Given the description of an element on the screen output the (x, y) to click on. 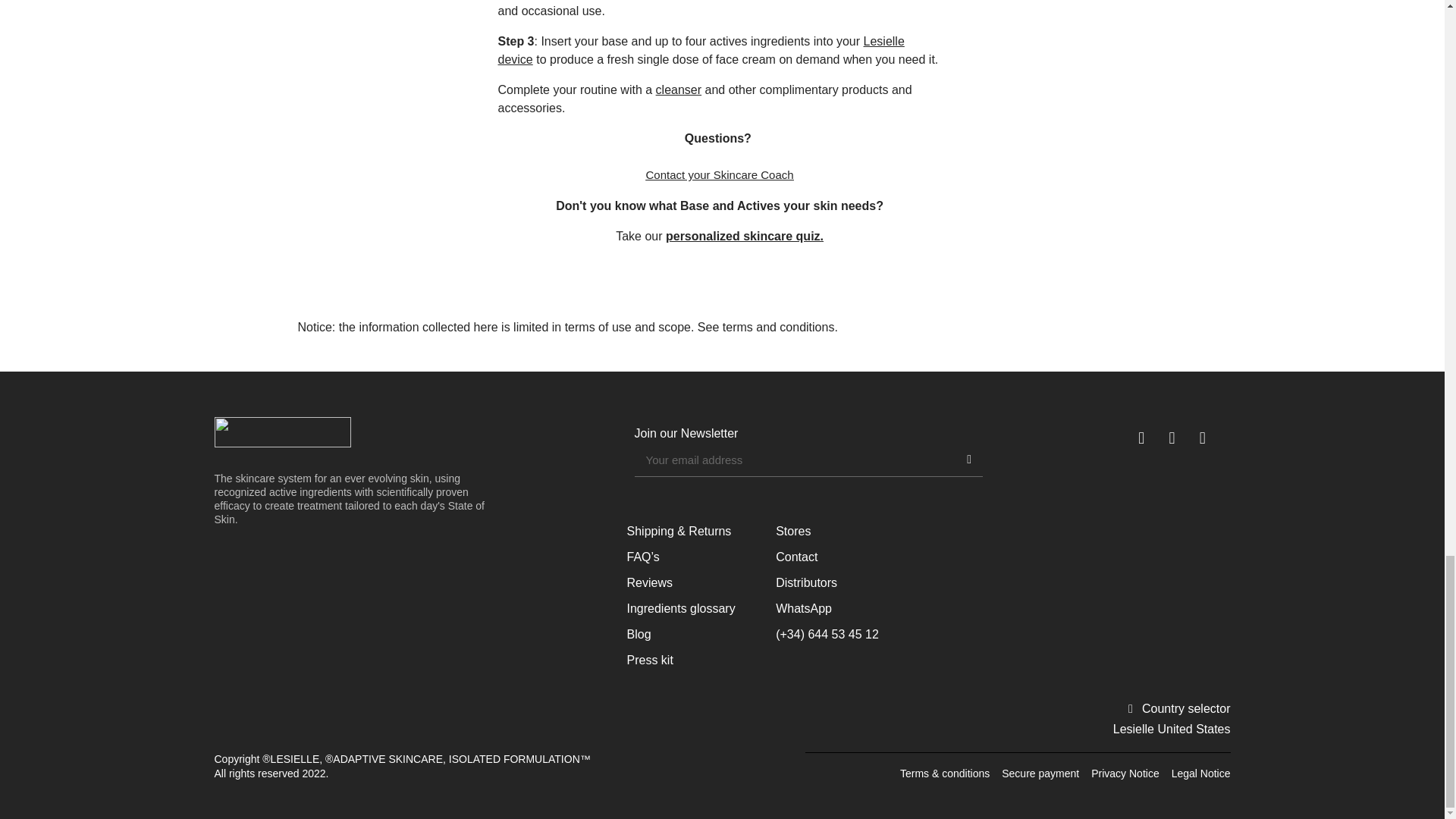
Lesielle device (700, 50)
